Given the description of an element on the screen output the (x, y) to click on. 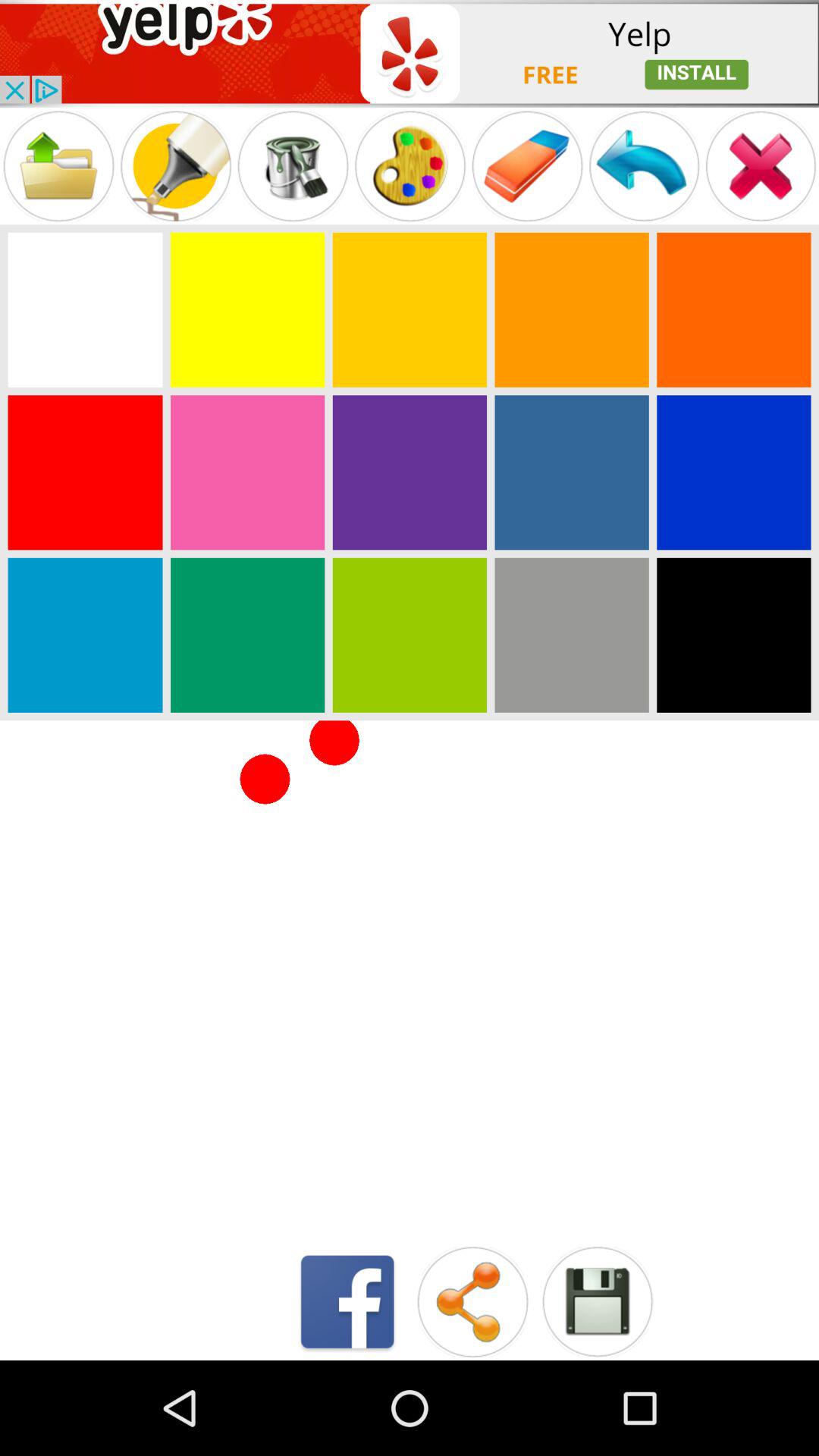
select blue (733, 472)
